Given the description of an element on the screen output the (x, y) to click on. 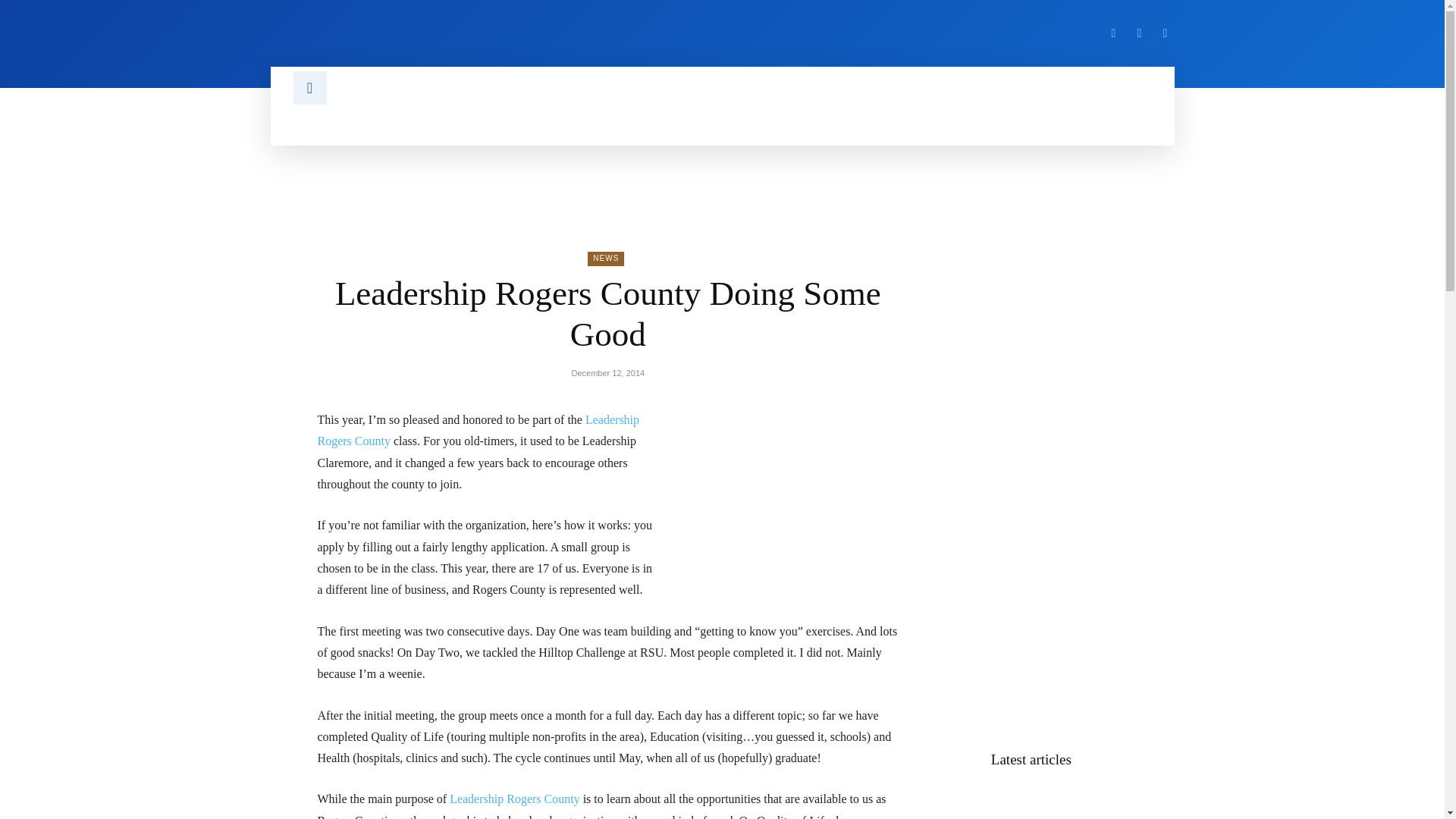
WRJH Cheer Tag a Driveway Fundraiser Returns (1030, 802)
Youtube (1164, 33)
Instagram (1138, 33)
Facebook (1112, 33)
